Given the description of an element on the screen output the (x, y) to click on. 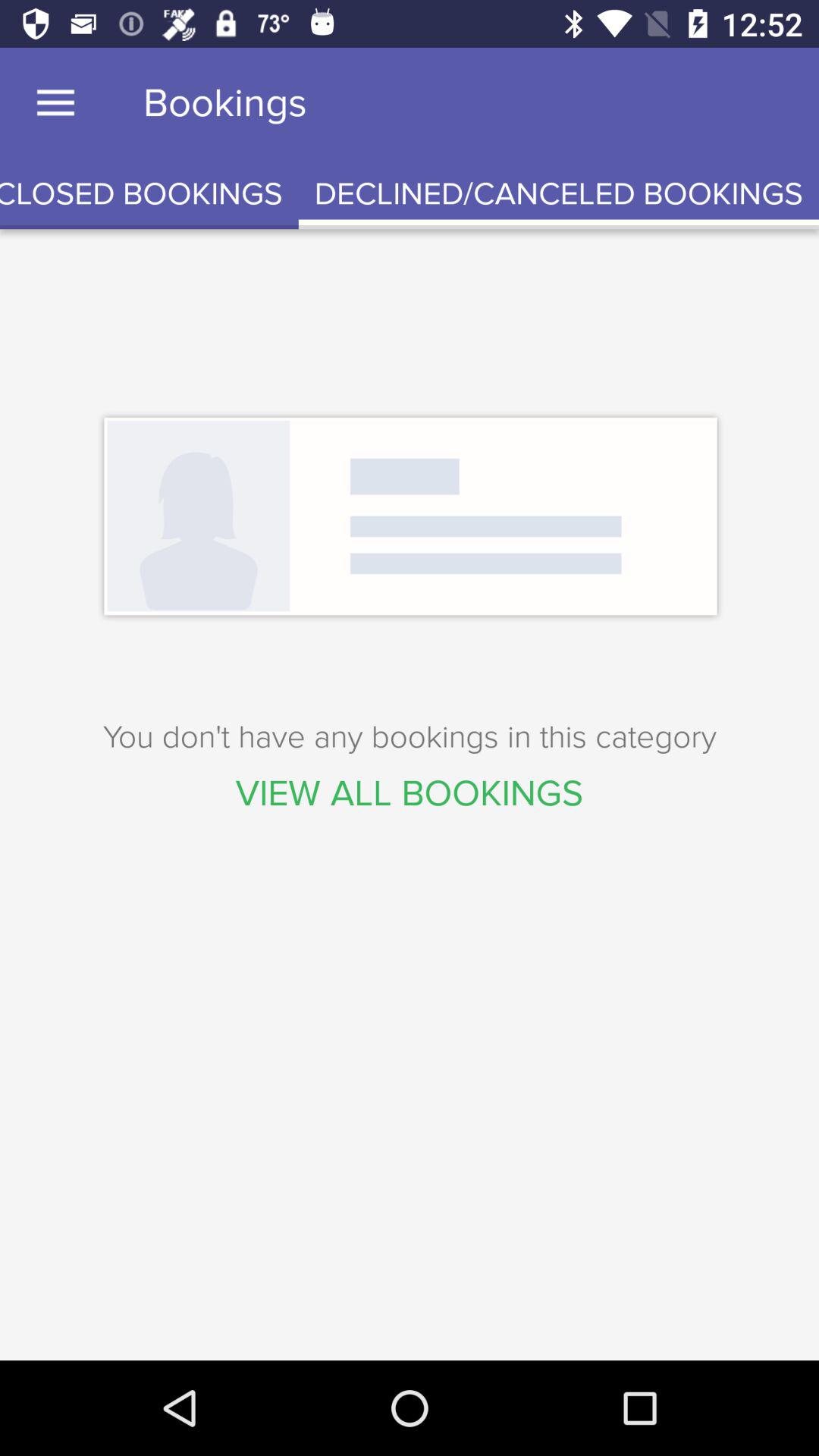
choose item to the left of bookings (55, 103)
